Given the description of an element on the screen output the (x, y) to click on. 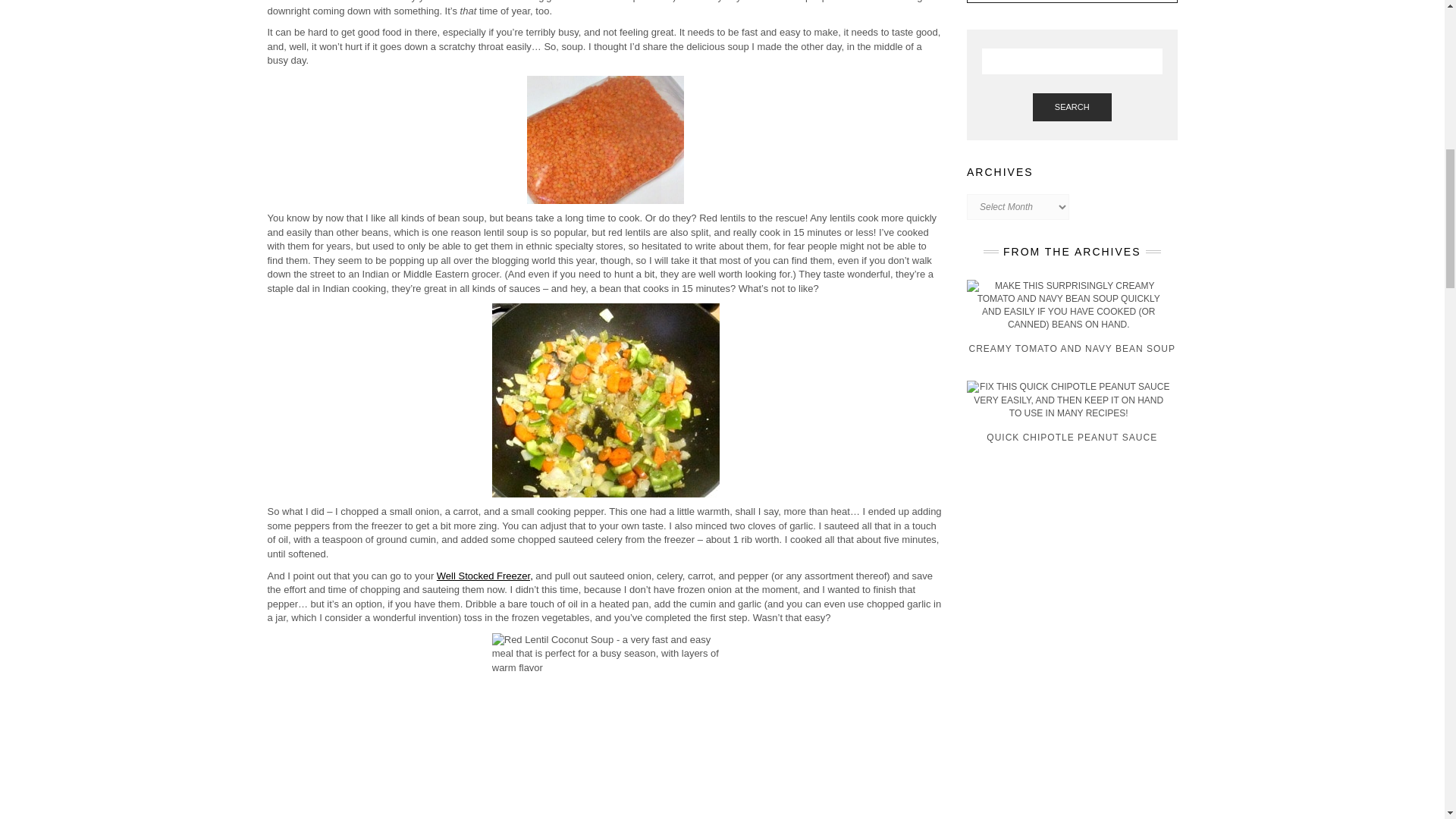
CREAMY TOMATO AND NAVY BEAN SOUP (1071, 326)
SEARCH (1072, 106)
QUICK CHIPOTLE PEANUT SAUCE (1071, 418)
Well Stocked Freezer, (484, 575)
